Given the description of an element on the screen output the (x, y) to click on. 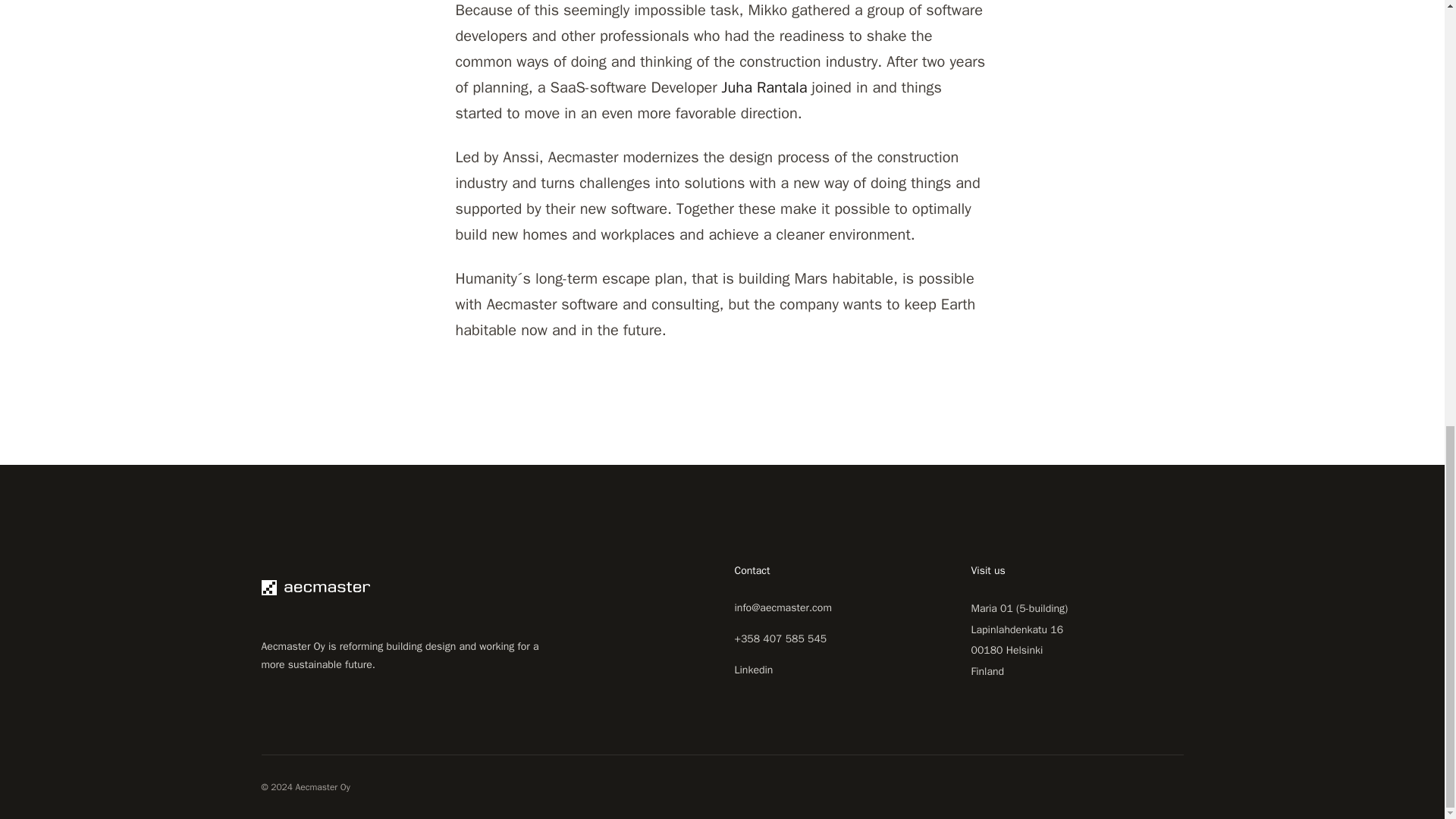
Aecmaster (408, 587)
Linkedin (753, 669)
